Given the description of an element on the screen output the (x, y) to click on. 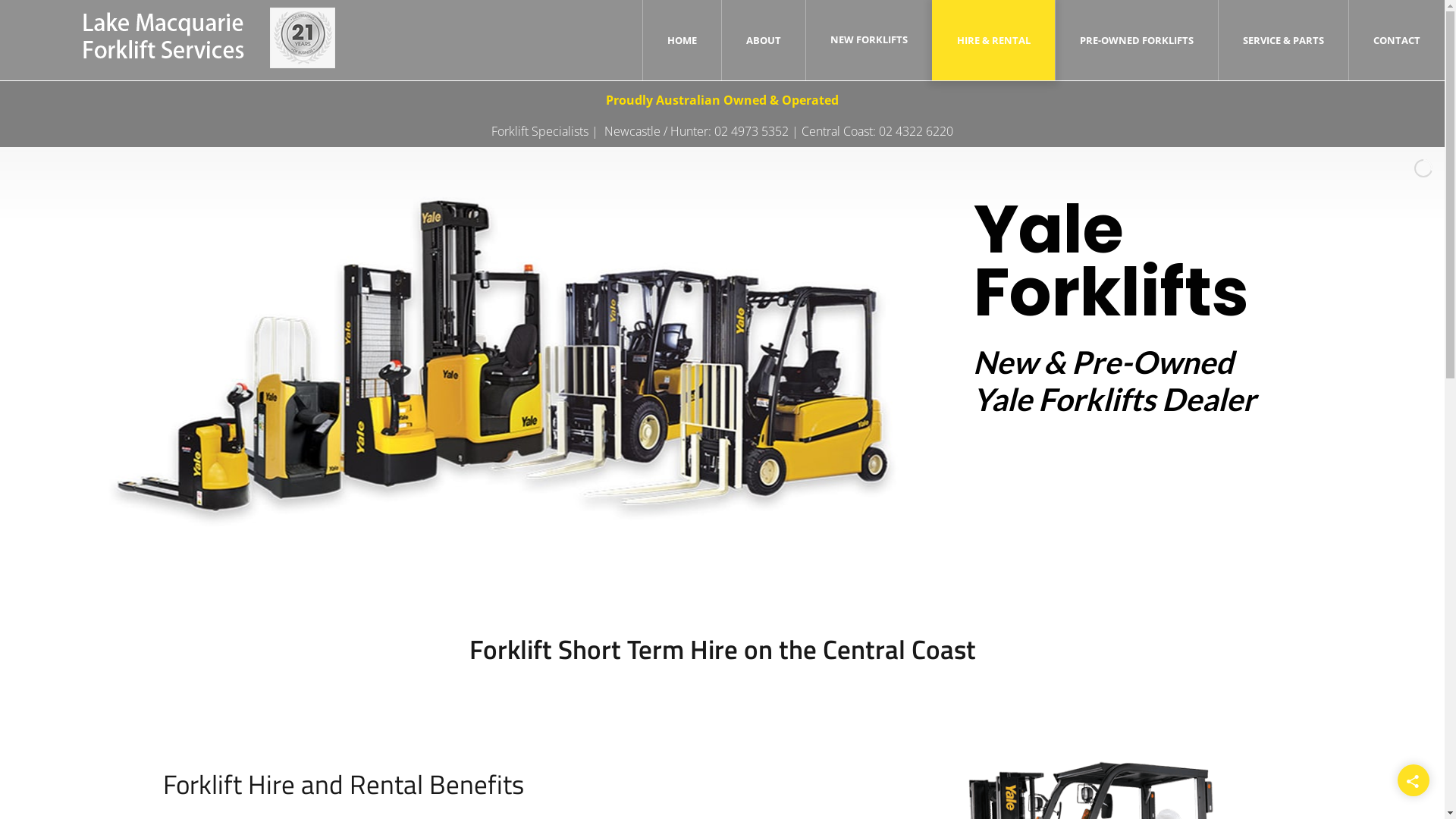
CONTACT Element type: text (1396, 40)
SERVICE & PARTS Element type: text (1283, 40)
02 4973 5352 Element type: text (751, 130)
NEW FORKLIFTS Element type: text (868, 39)
NEW FORKLIFTS Element type: text (868, 39)
ABOUT Element type: text (763, 40)
HOME Element type: text (681, 40)
HIRE & RENTAL Element type: text (993, 40)
02 4322 6220 Element type: text (915, 130)
PRE-OWNED FORKLIFTS Element type: text (1136, 40)
